Given the description of an element on the screen output the (x, y) to click on. 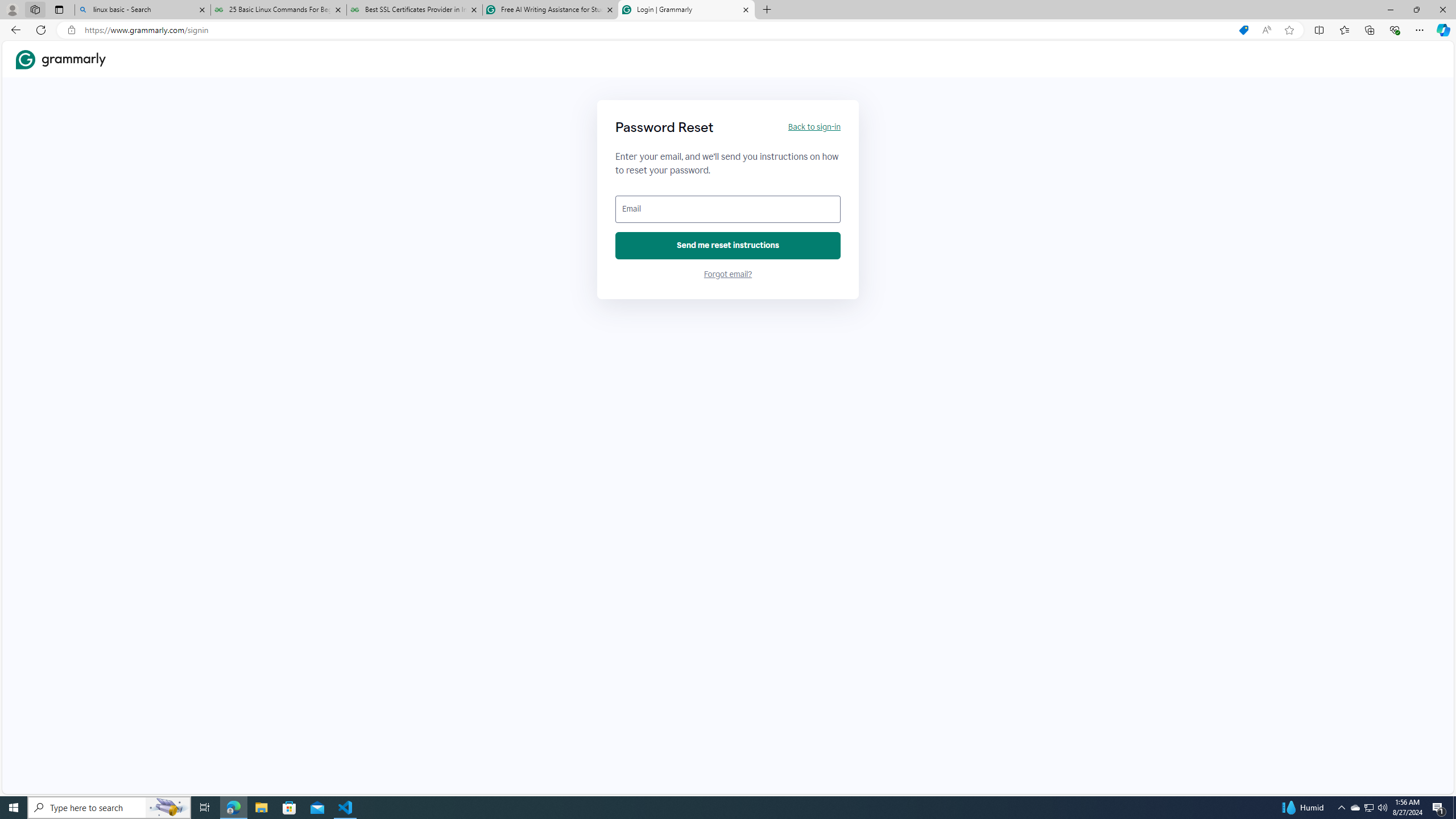
Back to sign-in (813, 127)
Login | Grammarly (685, 9)
linux basic - Search (142, 9)
Shopping in Microsoft Edge (1243, 29)
Send me reset instructions (727, 245)
